Given the description of an element on the screen output the (x, y) to click on. 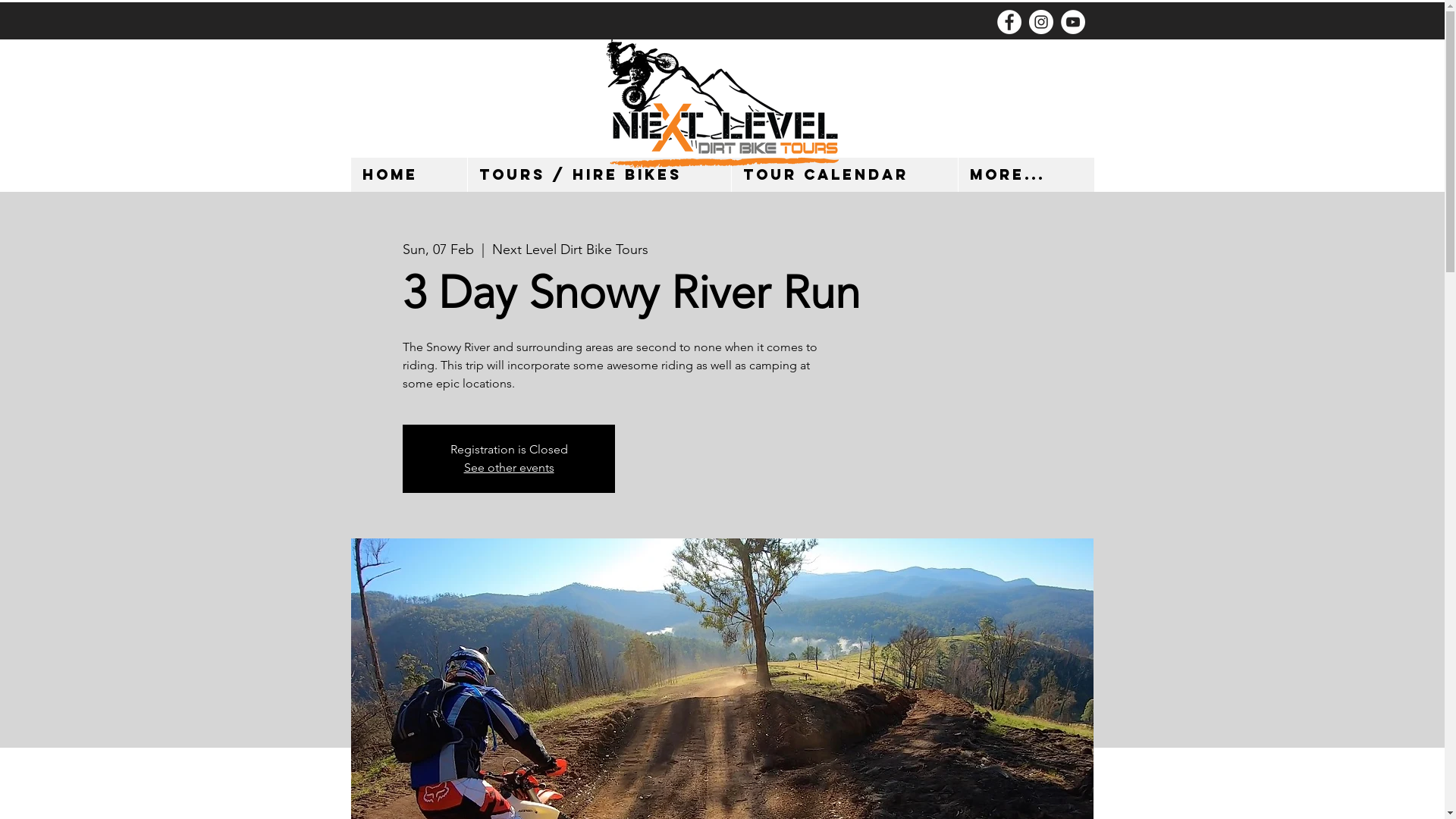
HOME Element type: text (408, 174)
TOURS / HIRE BIKES Element type: text (599, 174)
TOUR CALENDAR Element type: text (844, 174)
See other events Element type: text (509, 467)
